Given the description of an element on the screen output the (x, y) to click on. 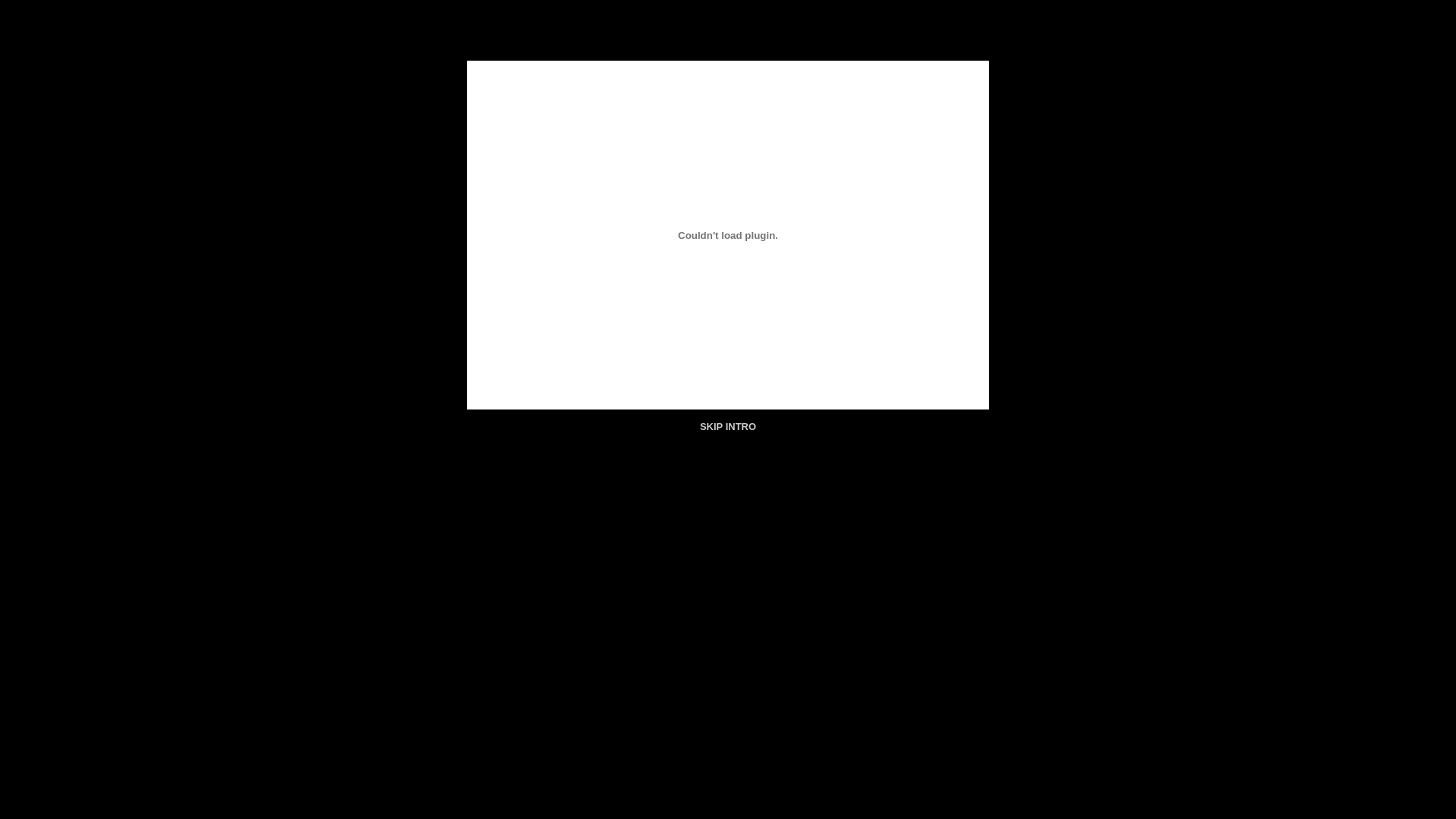
SKIP INTRO Element type: text (727, 426)
